Given the description of an element on the screen output the (x, y) to click on. 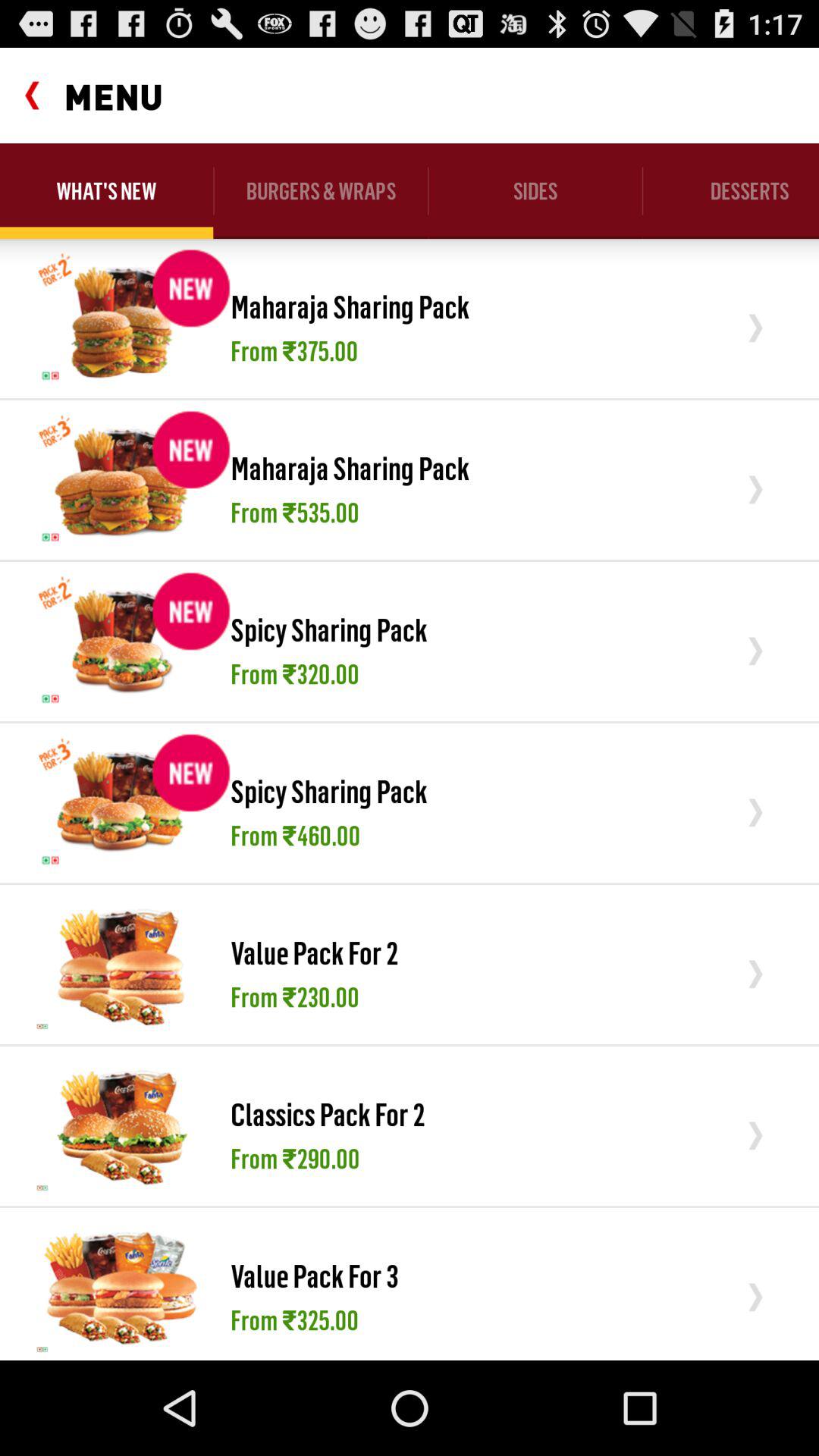
click item to the left of maharaja sharing pack item (121, 479)
